Given the description of an element on the screen output the (x, y) to click on. 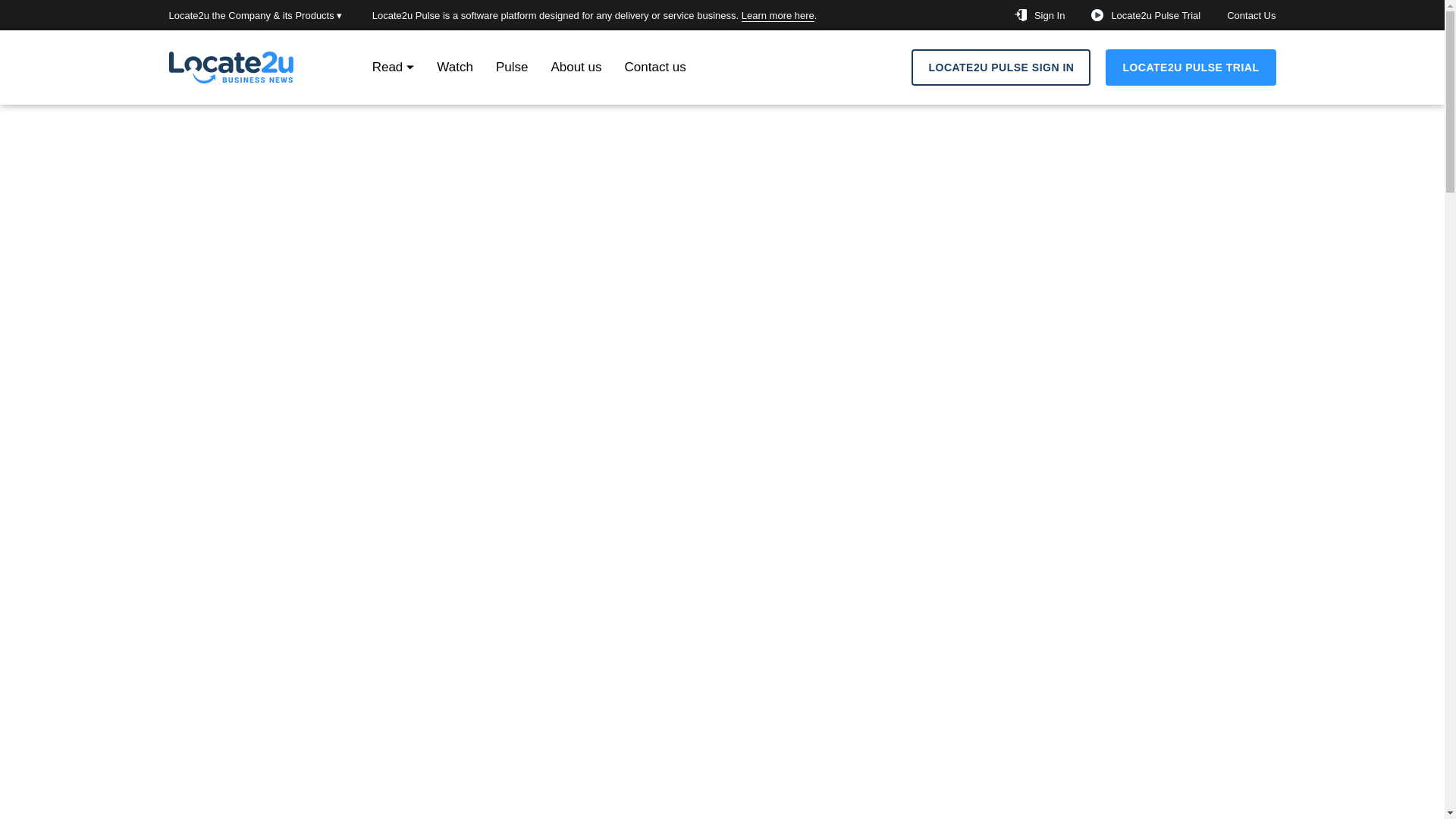
Contact Us (1251, 15)
Sign In (1048, 15)
Locate2u Pulse Trial (1154, 15)
Learn more here (777, 15)
